Given the description of an element on the screen output the (x, y) to click on. 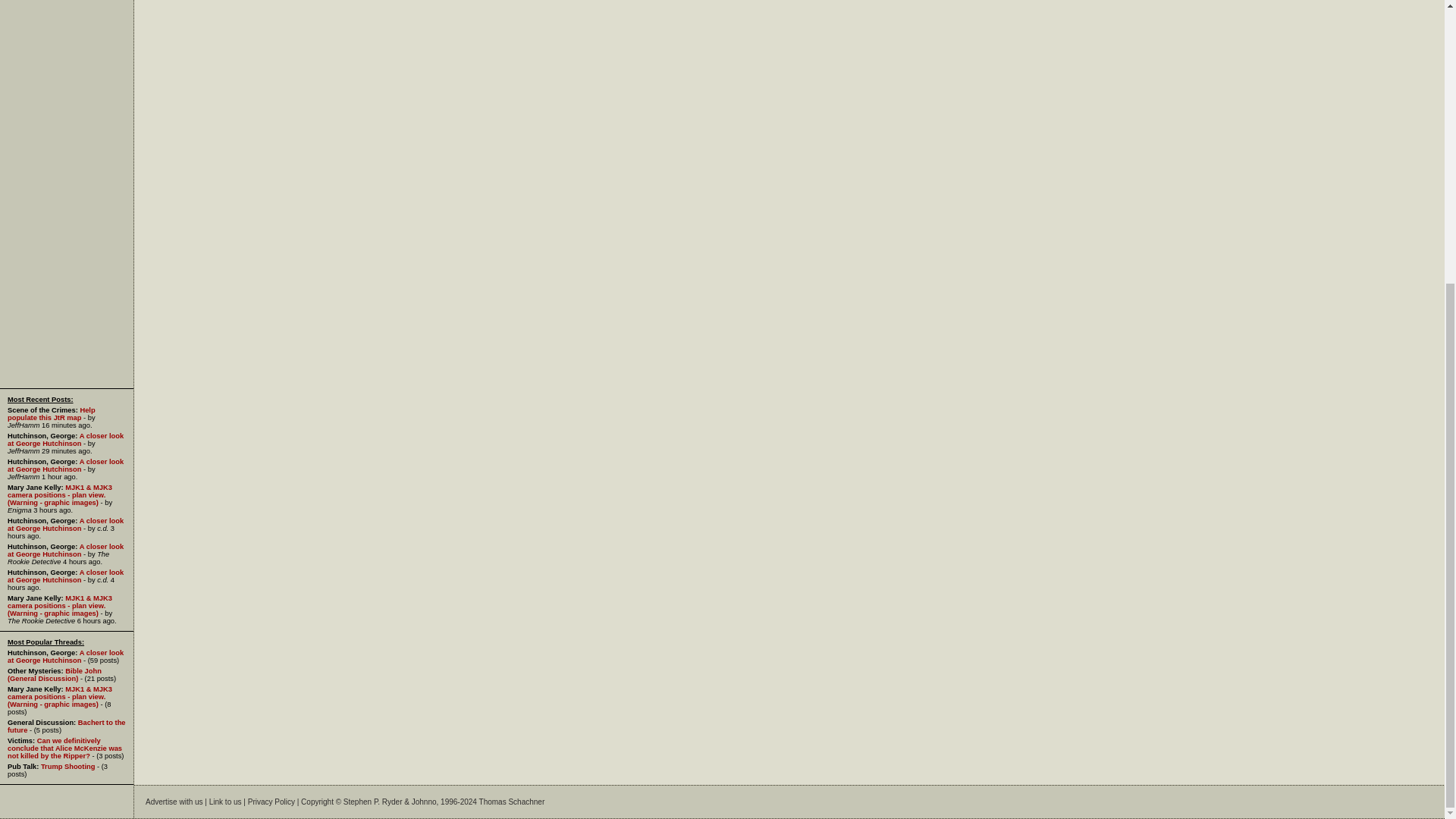
A closer look at George Hutchinson (65, 439)
A closer look at George Hutchinson (65, 524)
Trump Shooting (68, 766)
Help populate this JtR map (51, 413)
A closer look at George Hutchinson (65, 549)
A closer look at George Hutchinson (65, 656)
Bachert to the future (66, 726)
A closer look at George Hutchinson (65, 575)
A closer look at George Hutchinson (65, 465)
